Given the description of an element on the screen output the (x, y) to click on. 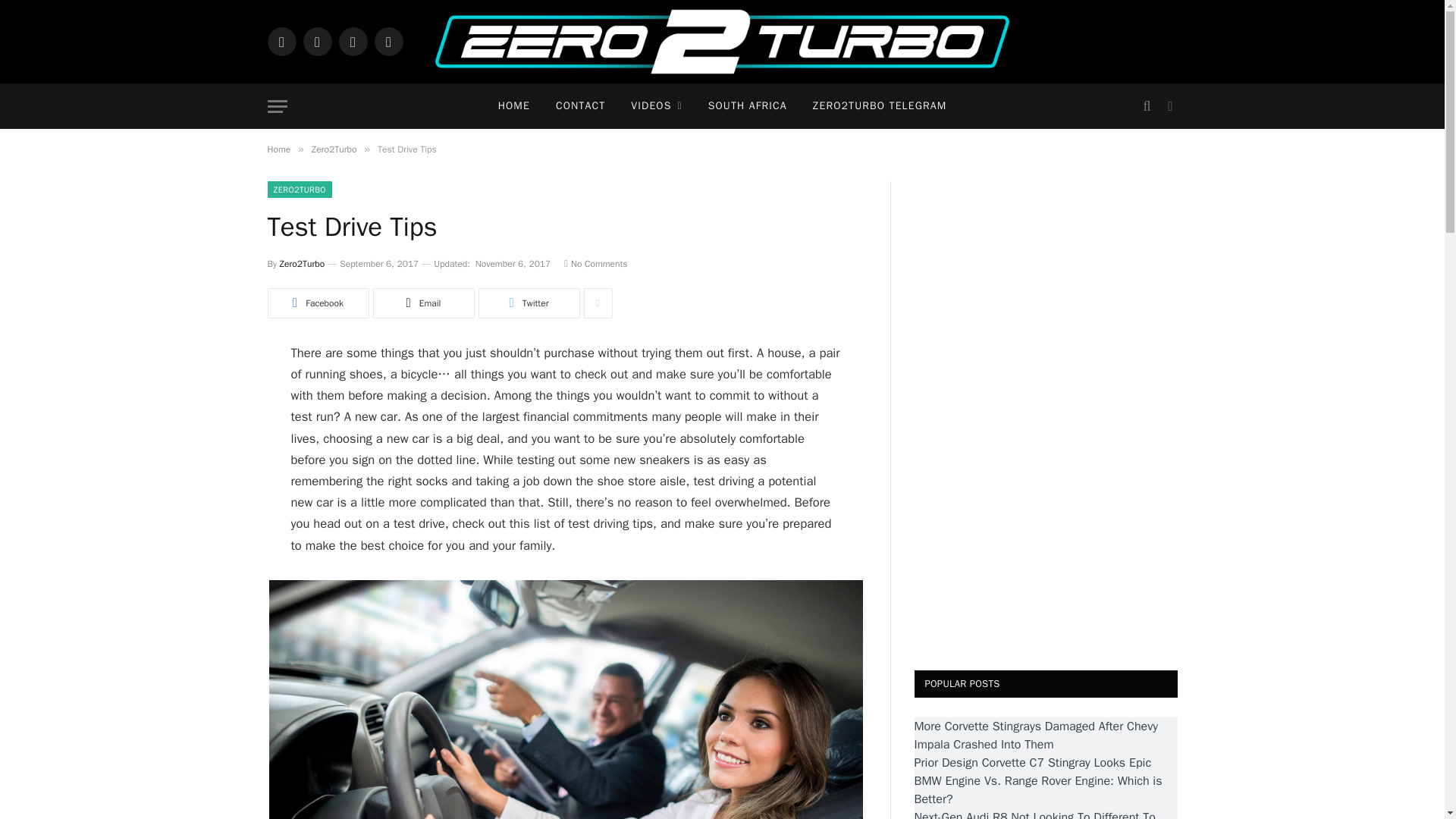
CONTACT (580, 105)
No Comments (595, 263)
ZERO2TURBO (298, 189)
Switch to Dark Design - easier on eyes. (1168, 106)
Facebook (280, 41)
Facebook (317, 303)
Zero2Turbo (301, 263)
Zero2Turbo (333, 149)
Email (423, 303)
Instagram (351, 41)
Home (277, 149)
HOME (513, 105)
VIDEOS (655, 105)
ZERO2TURBO TELEGRAM (879, 105)
Twitter (528, 303)
